Given the description of an element on the screen output the (x, y) to click on. 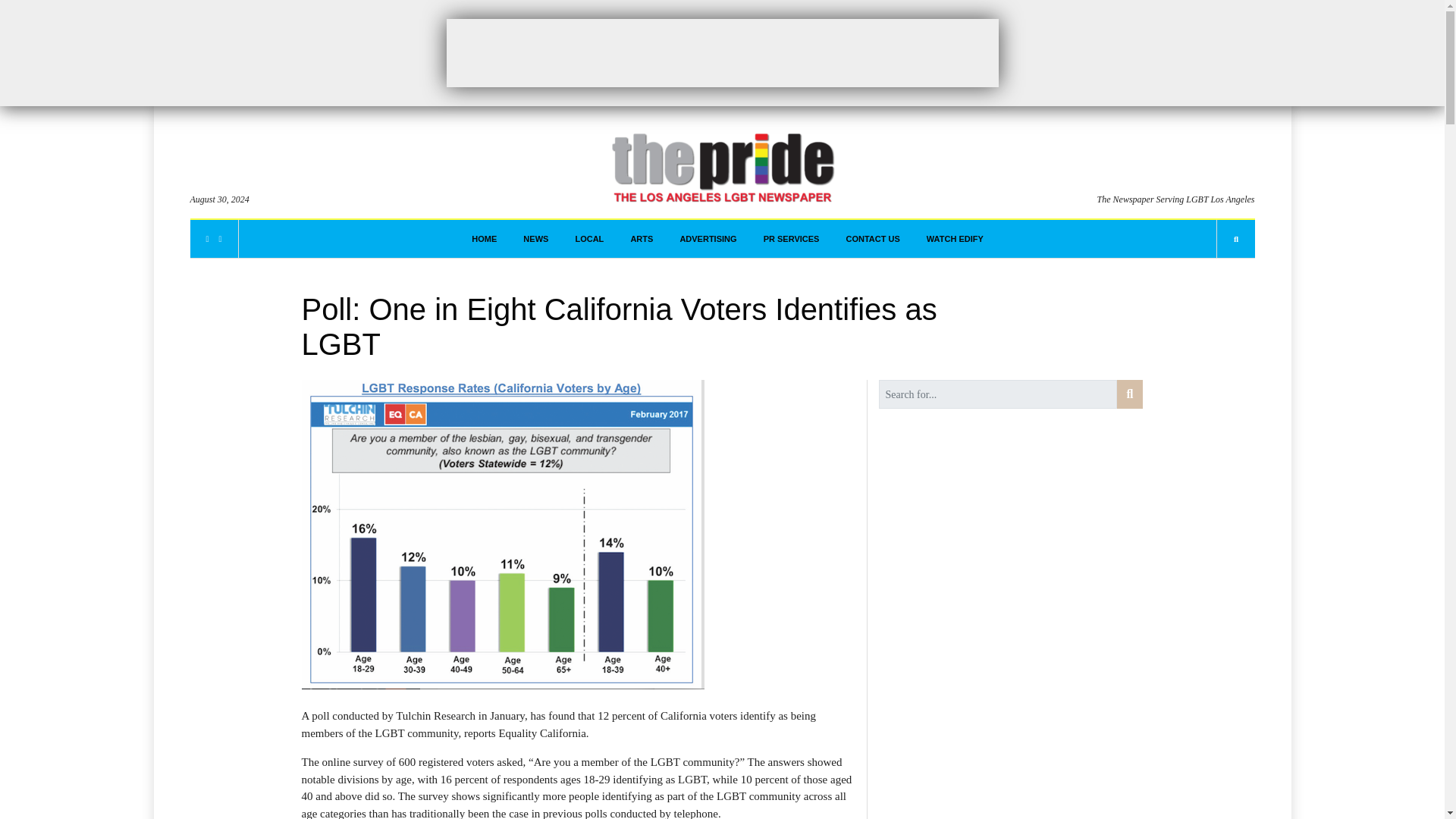
CONTACT US (872, 238)
PR SERVICES (790, 238)
3rd party ad content (721, 52)
WATCH EDIFY (955, 238)
ADVERTISING (707, 238)
